Given the description of an element on the screen output the (x, y) to click on. 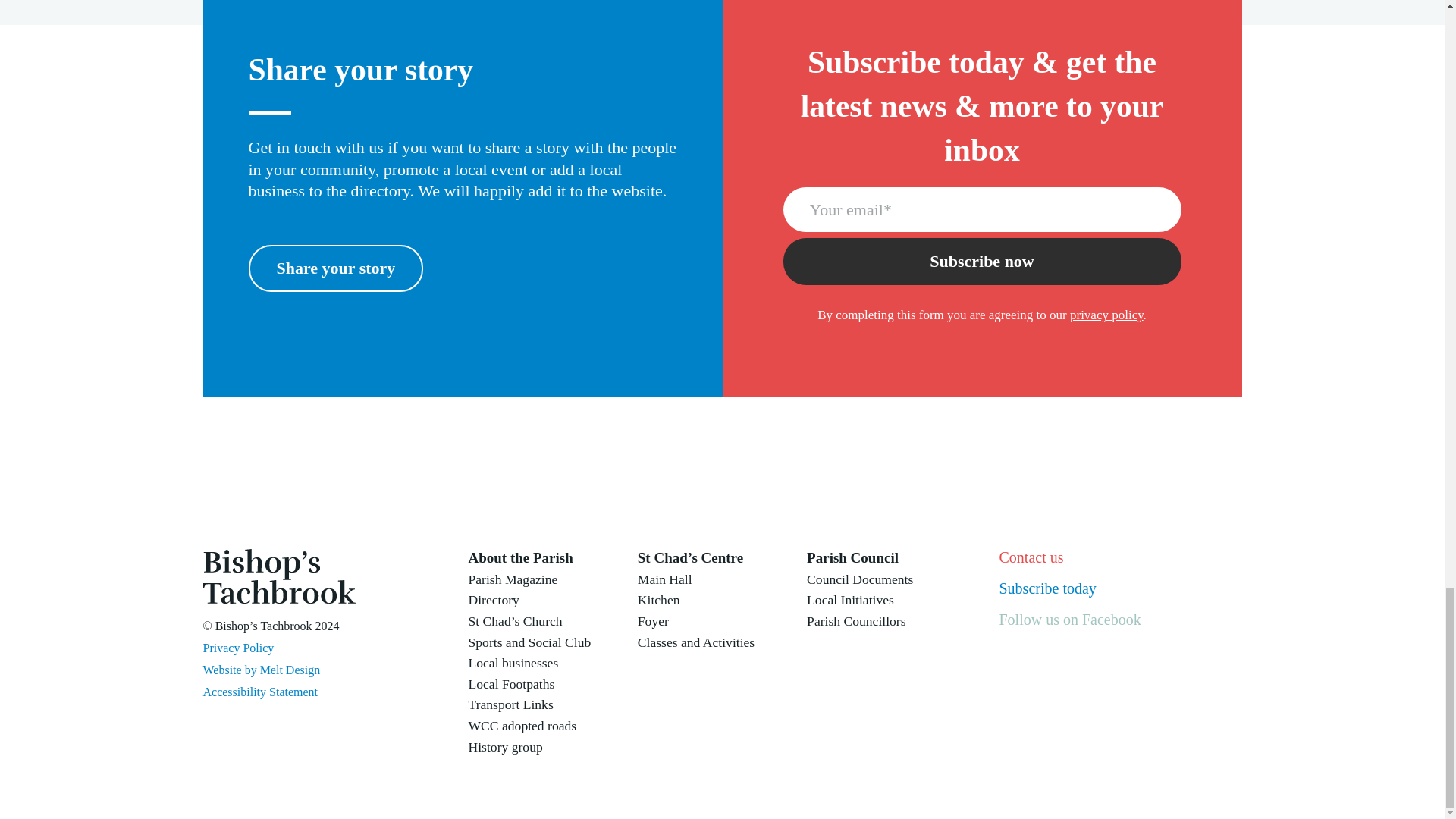
Subscribe now (981, 261)
Share your story (335, 267)
